Given the description of an element on the screen output the (x, y) to click on. 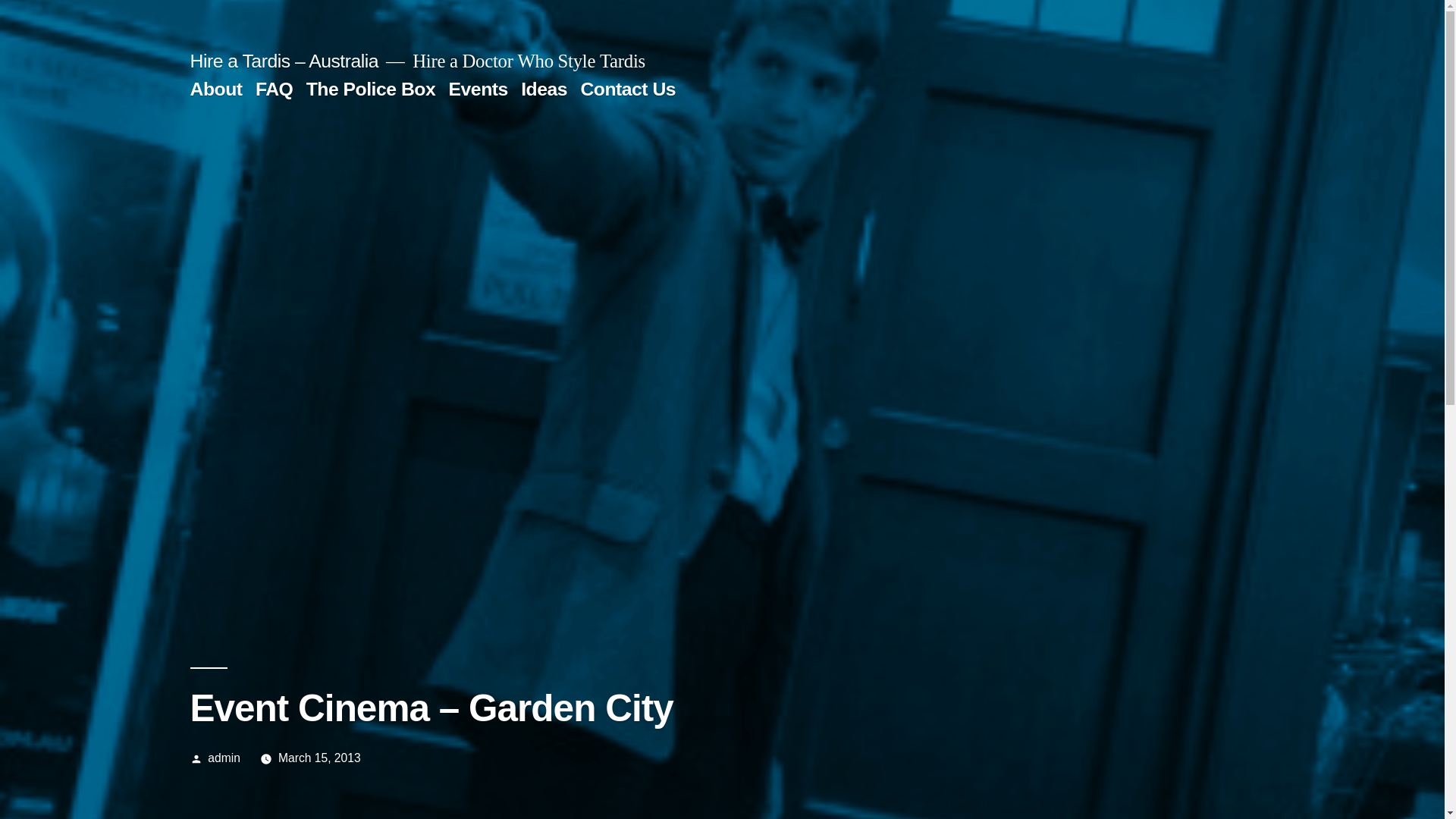
Ideas Element type: text (543, 88)
The Police Box Element type: text (371, 88)
Contact Us Element type: text (627, 88)
admin Element type: text (223, 757)
Events Element type: text (478, 88)
March 15, 2013 Element type: text (319, 757)
FAQ Element type: text (273, 88)
About Element type: text (215, 88)
